Given the description of an element on the screen output the (x, y) to click on. 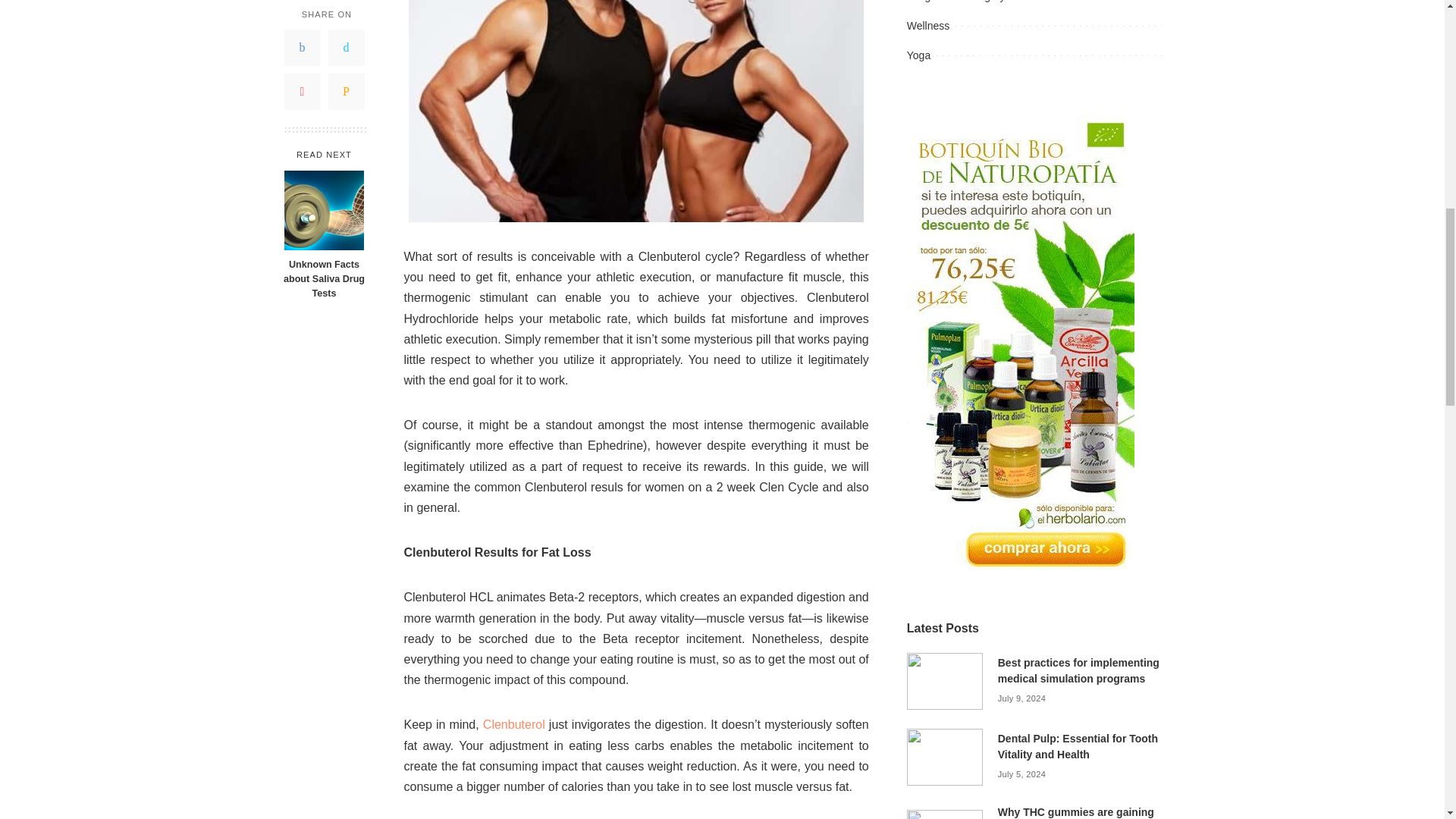
Unknown Facts about Saliva Drug Tests (323, 83)
Best practices for implementing medical simulation programs (944, 680)
Dental Pulp: Essential for Tooth Vitality and Health (1077, 746)
Unknown Facts about Saliva Drug Tests (323, 152)
Dental Pulp: Essential for Tooth Vitality and Health (944, 756)
Best practices for implementing medical simulation programs (1077, 670)
